Given the description of an element on the screen output the (x, y) to click on. 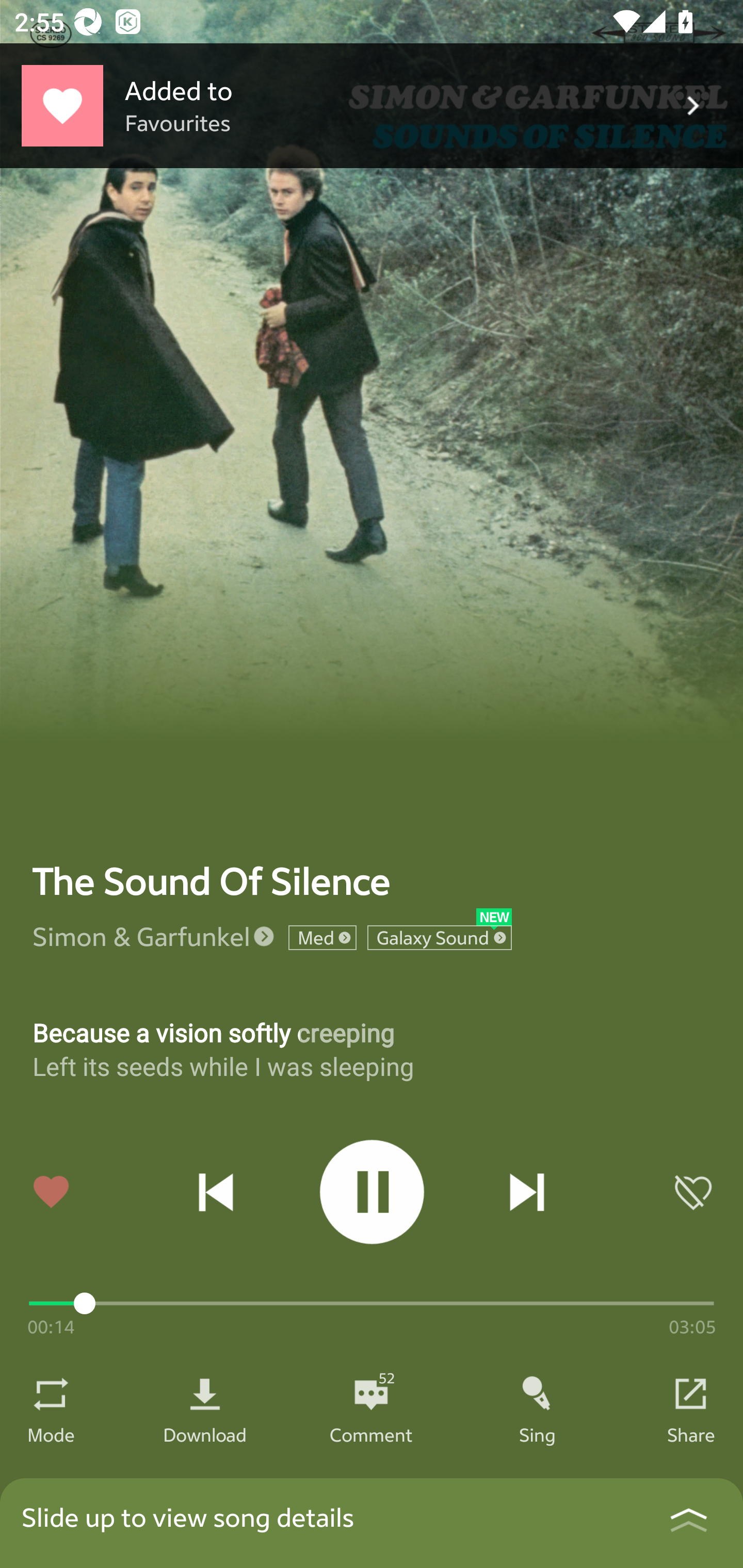
The Sound Of Silence (211, 881)
Simon & Garfunkel (141, 935)
Med (322, 937)
Galaxy Sound (439, 937)
52 (371, 1393)
Mode (51, 1434)
Download (204, 1434)
Comment (370, 1434)
Sing (537, 1434)
Share (691, 1434)
Slide up to view song details (371, 1523)
